Given the description of an element on the screen output the (x, y) to click on. 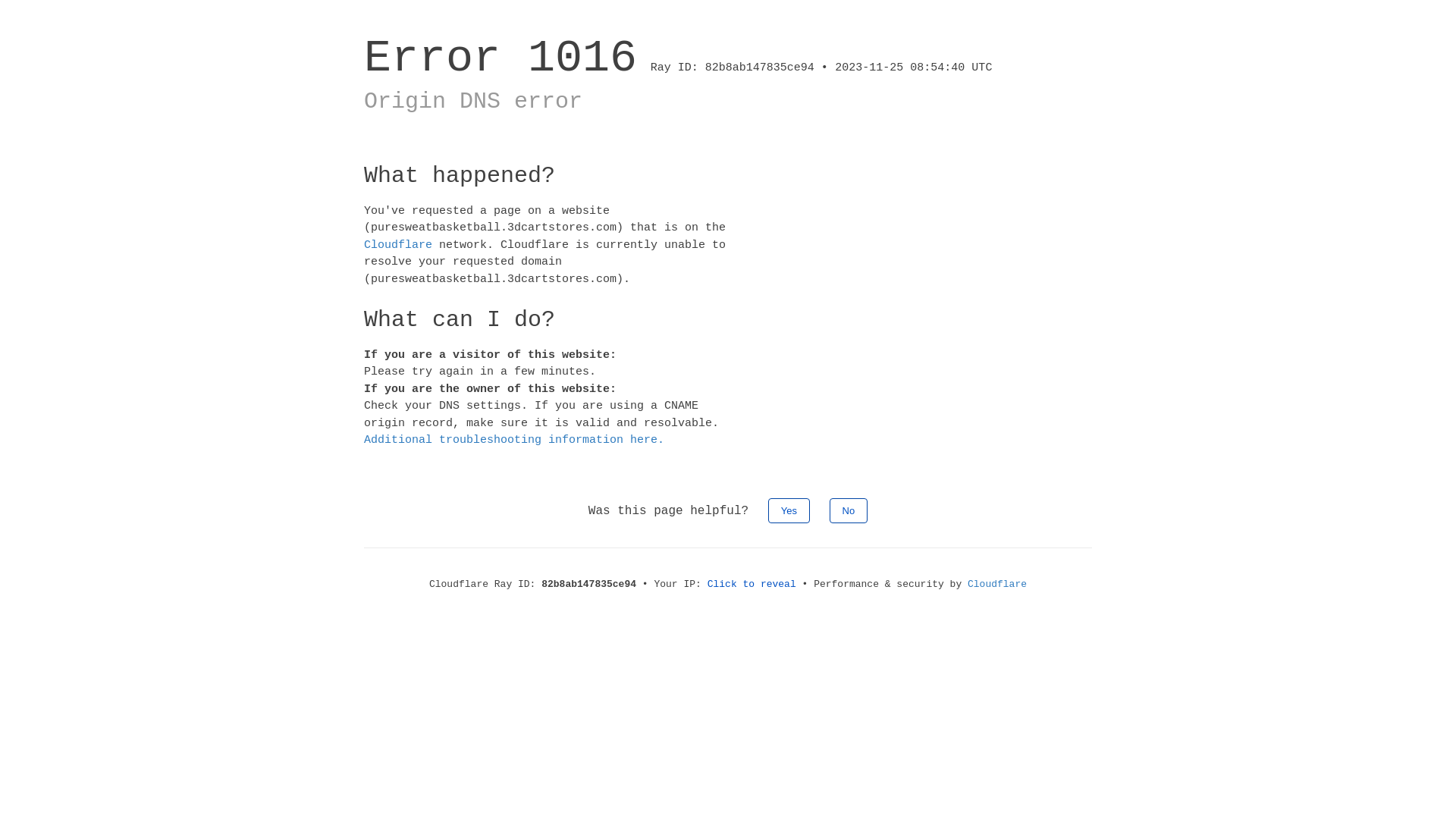
Yes Element type: text (788, 509)
Cloudflare Element type: text (996, 583)
No Element type: text (848, 509)
Cloudflare Element type: text (398, 244)
Click to reveal Element type: text (751, 583)
Additional troubleshooting information here. Element type: text (514, 439)
